Given the description of an element on the screen output the (x, y) to click on. 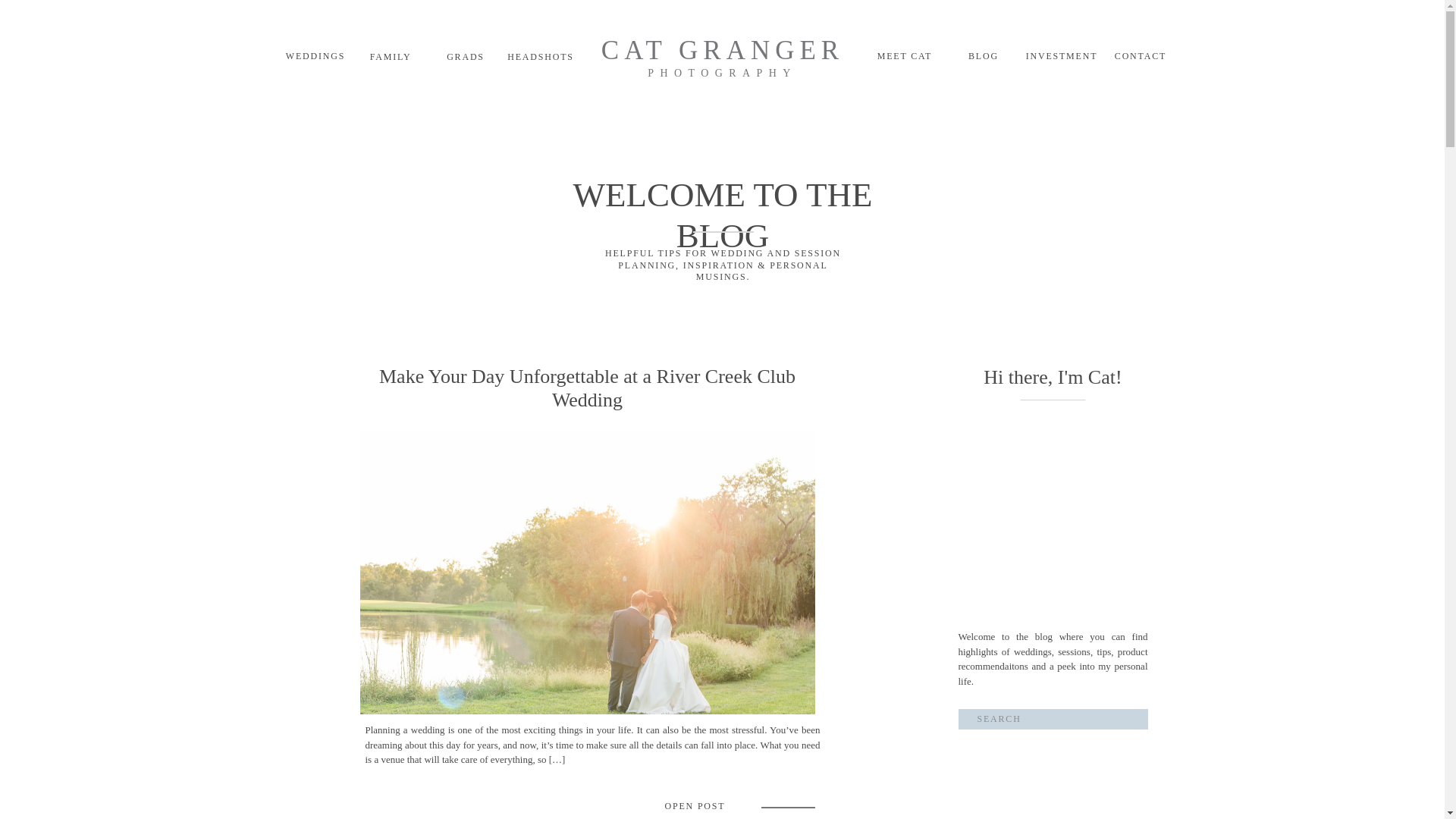
HEADSHOTS (539, 58)
PHOTOGRAPHY (722, 73)
Make Your Day Unforgettable at a River Creek Club Wedding (586, 571)
BLOG (983, 58)
WEDDINGS (315, 58)
Make Your Day Unforgettable at a River Creek Club Wedding (695, 807)
FAMILY (389, 58)
INVESTMENT (1062, 58)
CAT GRANGER (721, 51)
CONTACT (1140, 58)
